Given the description of an element on the screen output the (x, y) to click on. 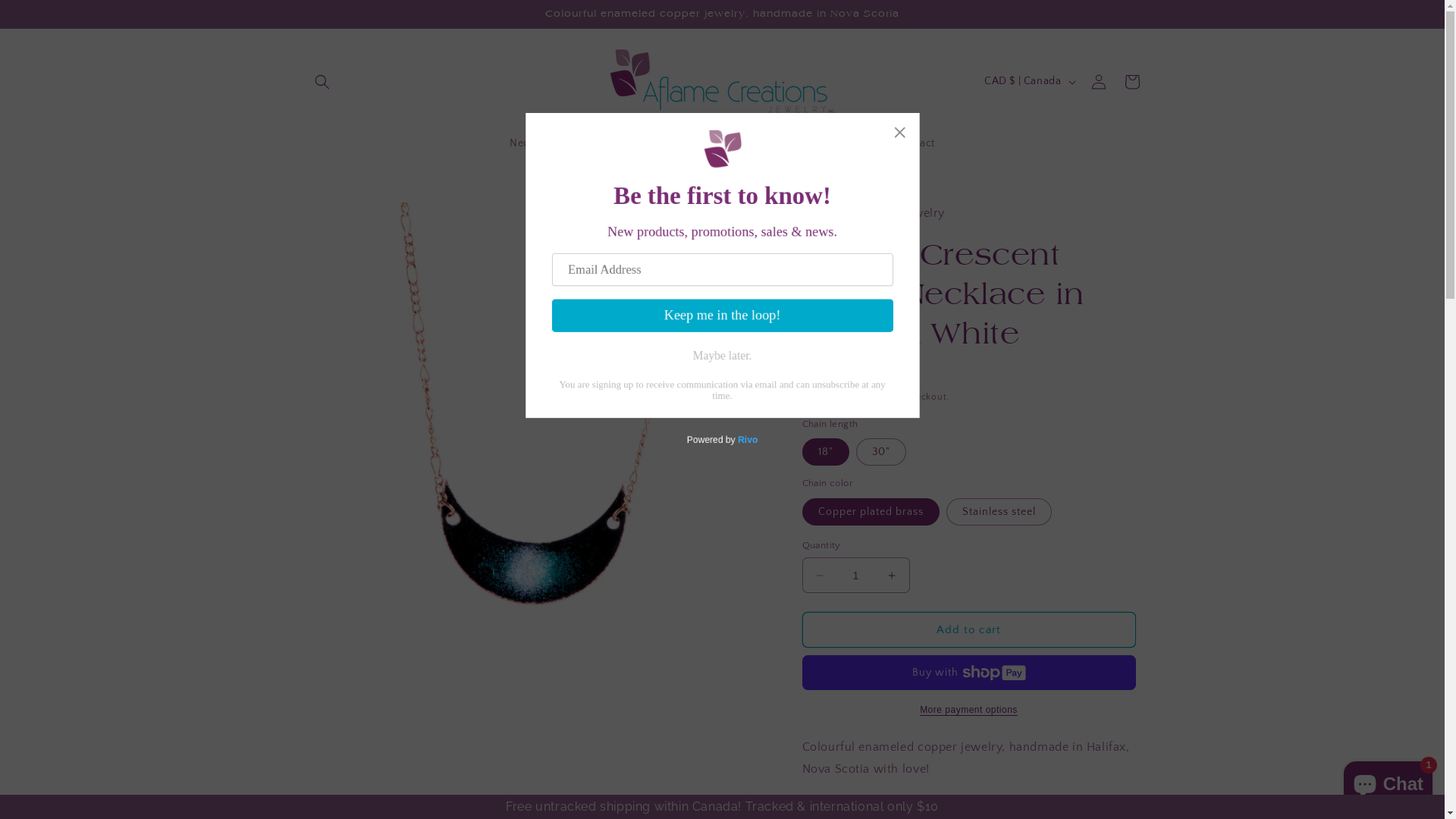
Contact Element type: text (915, 143)
Add to cart Element type: text (968, 629)
Log in Element type: text (1097, 81)
Skip to product information Element type: text (350, 219)
Earrings Element type: text (597, 143)
About Element type: text (651, 143)
Wholesale Element type: text (850, 143)
More payment options Element type: text (968, 709)
Necklaces Element type: text (534, 143)
Cart Element type: text (1131, 81)
Stockists Element type: text (706, 143)
Shopify online store chat Element type: hover (1388, 780)
CAD $ | Canada Element type: text (1028, 81)
2023 Events Element type: text (777, 143)
Shipping Element type: text (822, 396)
